Given the description of an element on the screen output the (x, y) to click on. 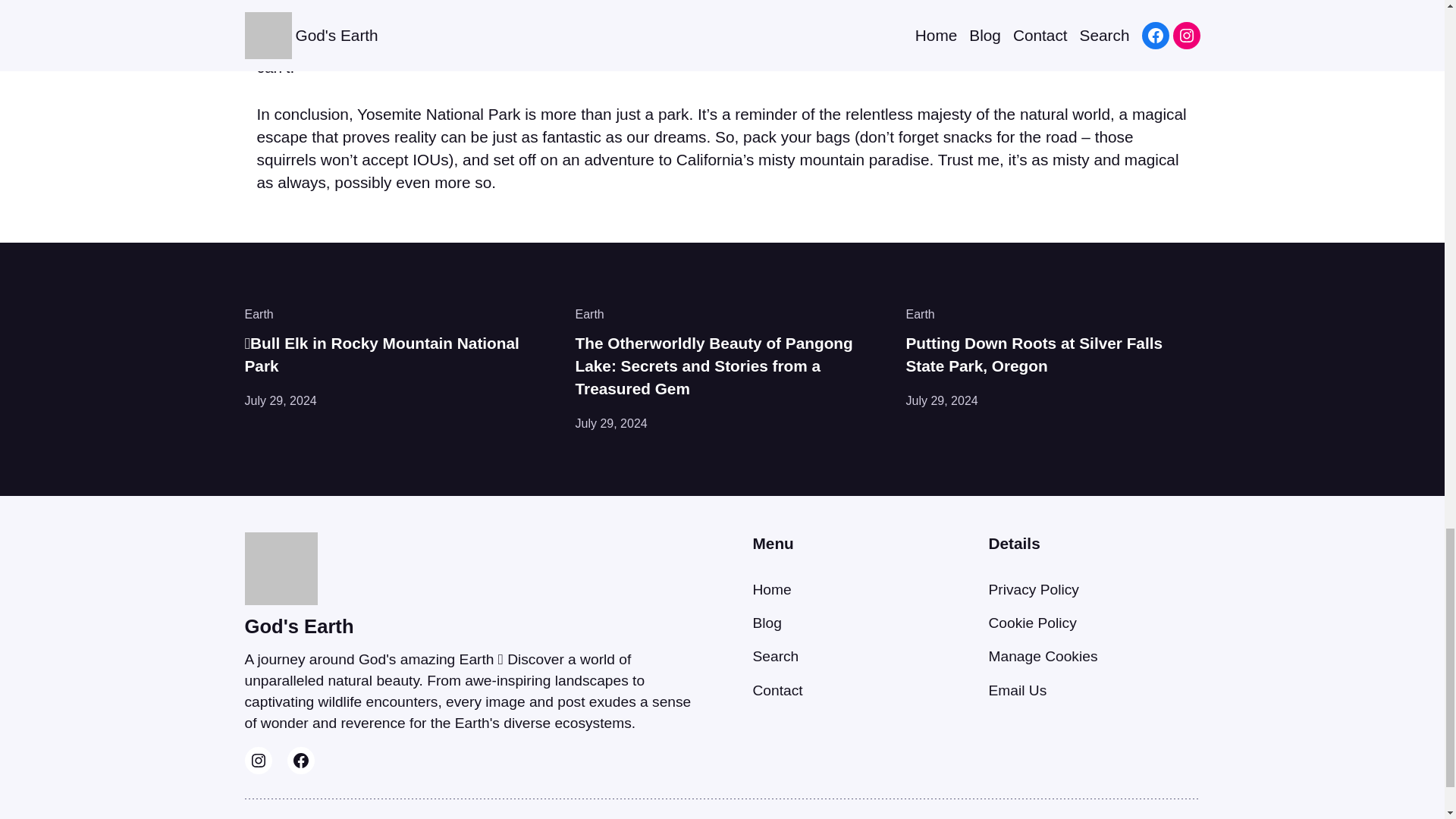
Cookie Policy (1032, 622)
Earth (258, 314)
Instagram (257, 759)
Manage Cookies (1042, 656)
God's Earth (298, 626)
Home (771, 589)
Facebook (300, 759)
Privacy Policy (1033, 589)
Contact (777, 690)
Search (774, 656)
Earth (589, 314)
Email Us (1017, 690)
Blog (766, 622)
Putting Down Roots at Silver Falls State Park, Oregon (1052, 354)
